Given the description of an element on the screen output the (x, y) to click on. 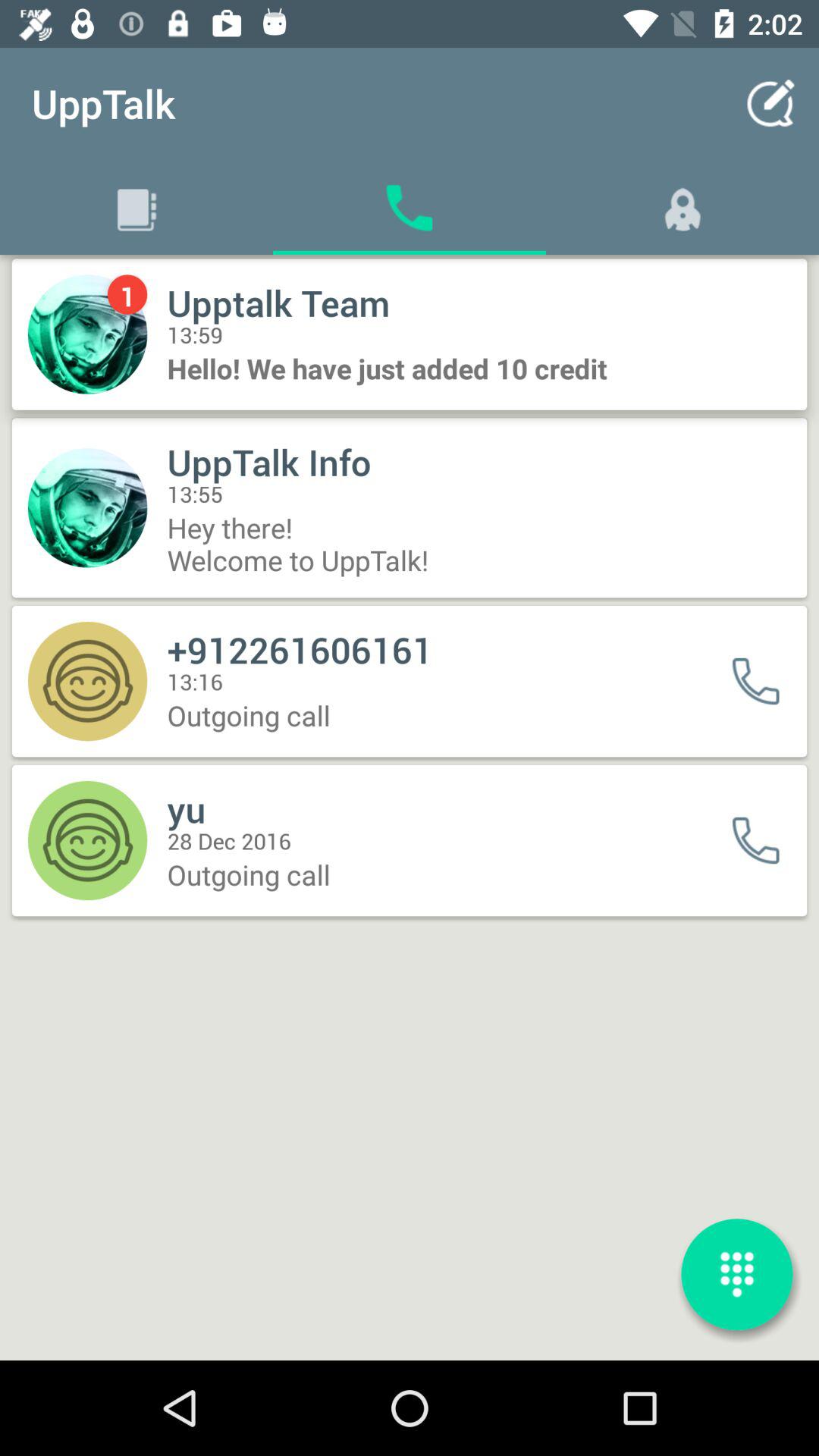
dial pad option (737, 1274)
